Given the description of an element on the screen output the (x, y) to click on. 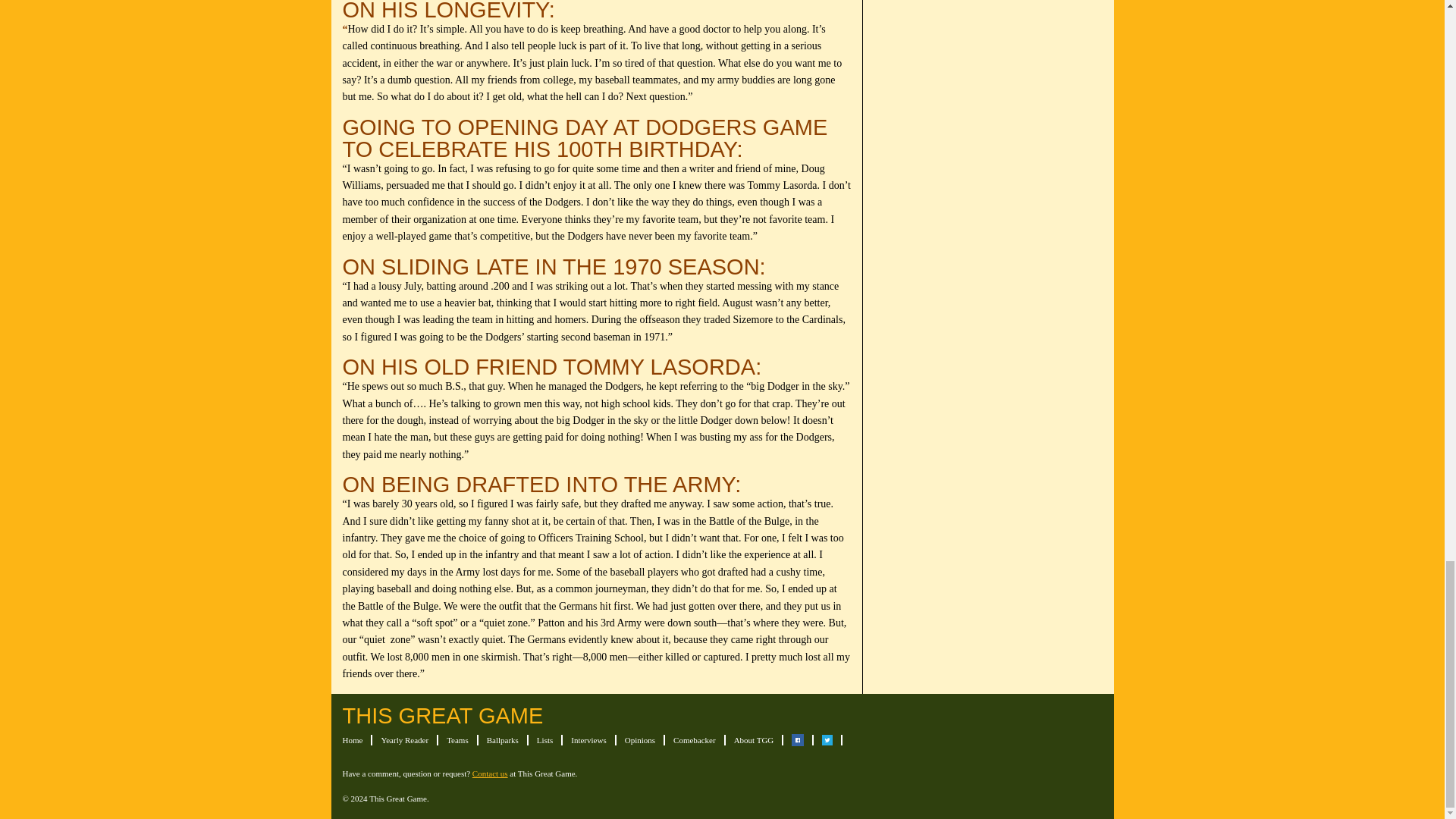
Lists (545, 739)
Interviews (587, 739)
TGG on Facebook (797, 739)
Contact us (489, 773)
Ballparks (502, 739)
Opinions (639, 739)
Teams (457, 739)
Home (352, 739)
Comebacker (694, 739)
Yearly Reader (404, 739)
TGG on Twitter (827, 739)
About TGG (753, 739)
